Given the description of an element on the screen output the (x, y) to click on. 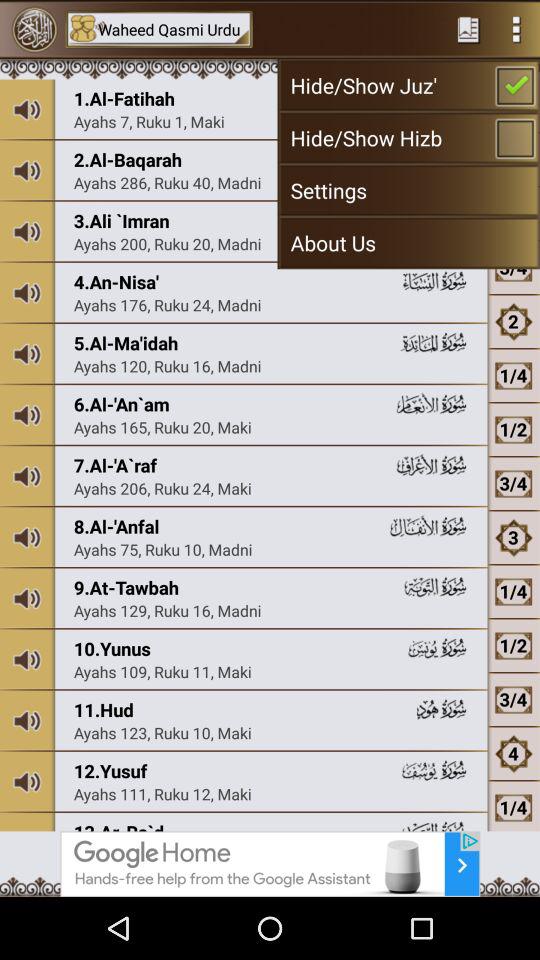
open advertisement (270, 864)
